Given the description of an element on the screen output the (x, y) to click on. 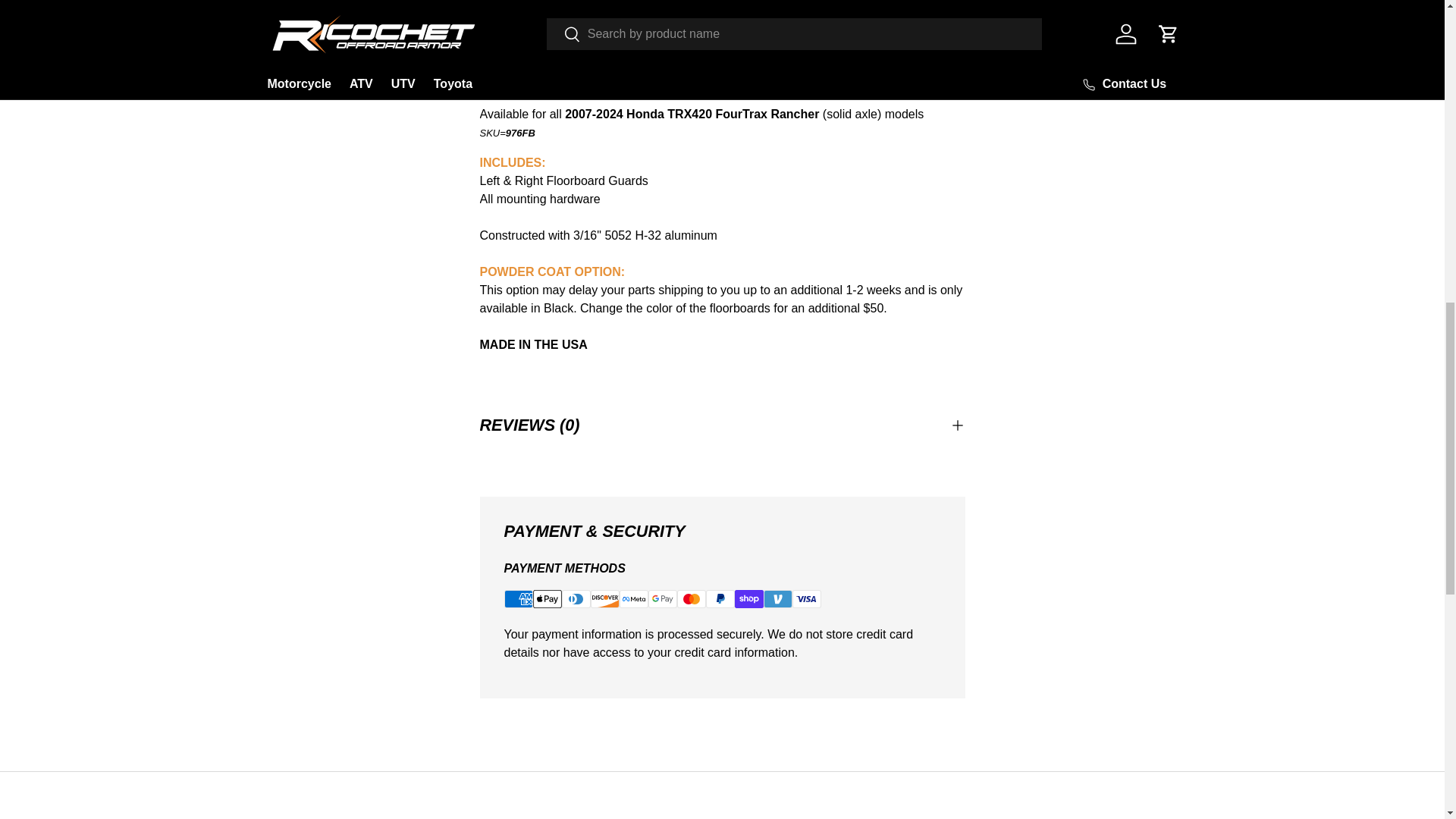
Google Pay (662, 598)
PayPal (718, 598)
Mastercard (690, 598)
Diners Club (574, 598)
Apple Pay (546, 598)
Meta Pay (632, 598)
Discover (603, 598)
Shop Pay (747, 598)
American Express (517, 598)
